Given the description of an element on the screen output the (x, y) to click on. 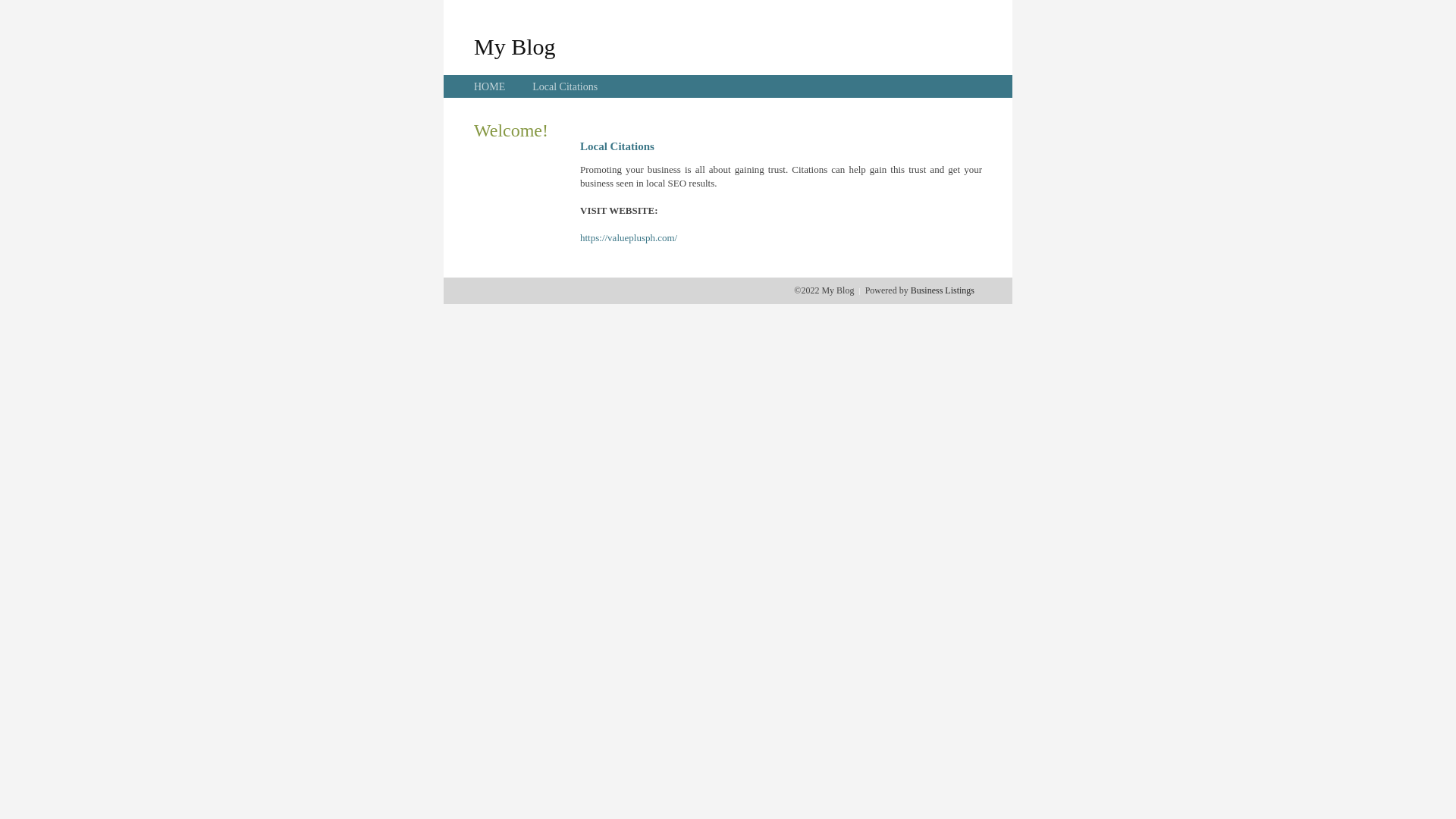
https://valueplusph.com/ Element type: text (628, 237)
My Blog Element type: text (514, 46)
Local Citations Element type: text (564, 86)
HOME Element type: text (489, 86)
Business Listings Element type: text (942, 290)
